Given the description of an element on the screen output the (x, y) to click on. 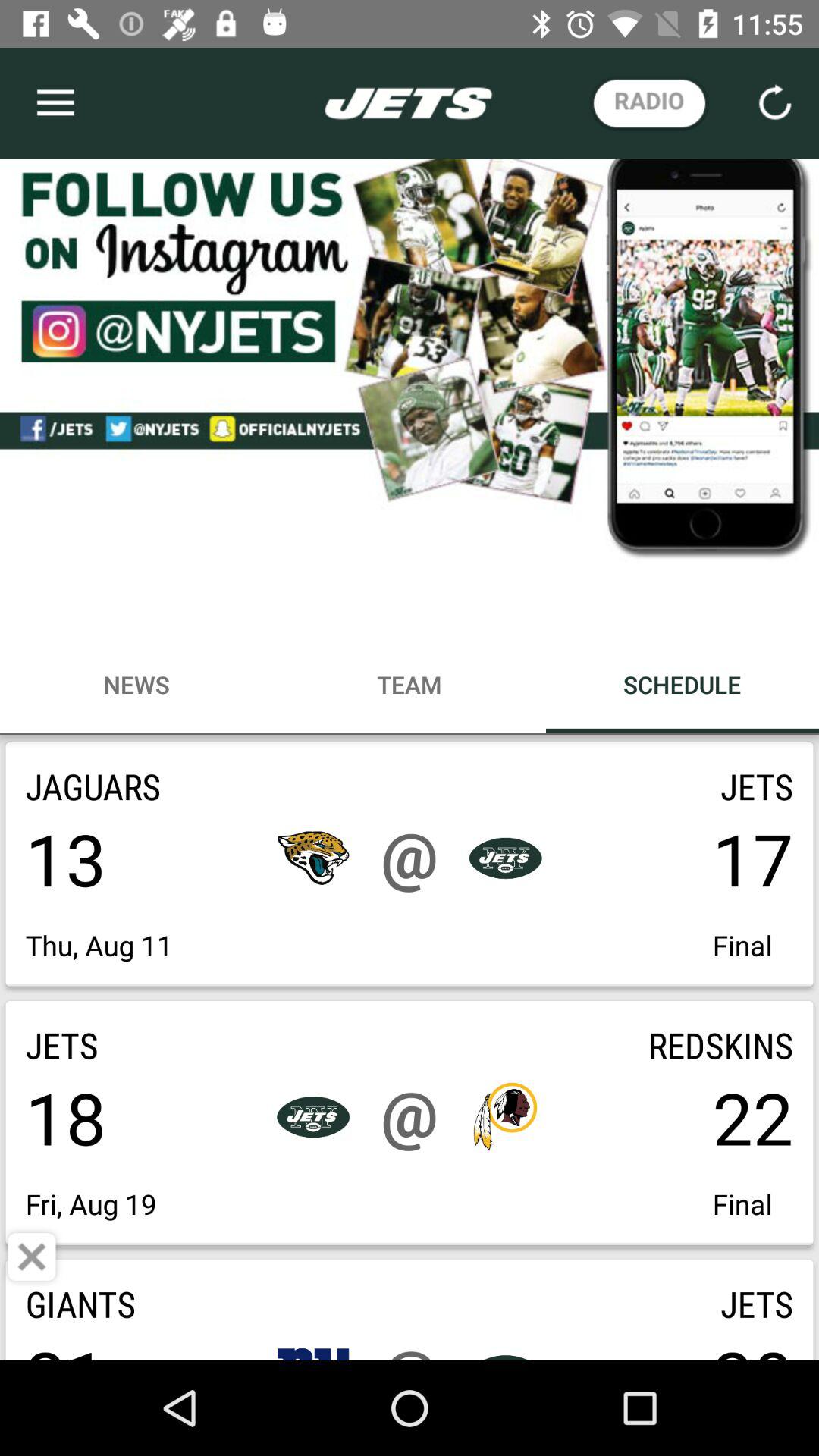
click on the icon beside 22 (505, 1116)
